Given the description of an element on the screen output the (x, y) to click on. 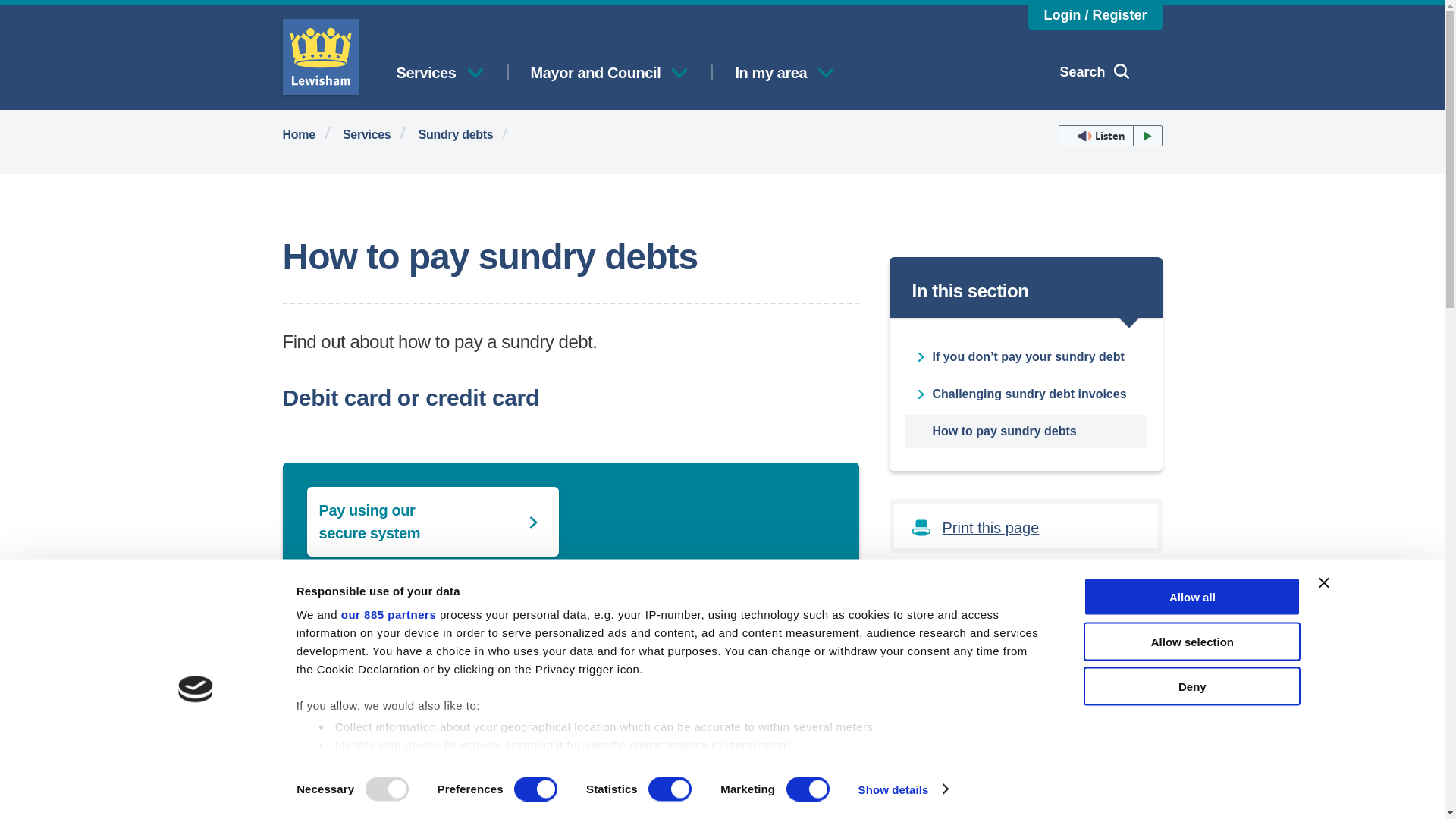
Show details (902, 789)
details section (825, 765)
our 885 partners (388, 614)
